Given the description of an element on the screen output the (x, y) to click on. 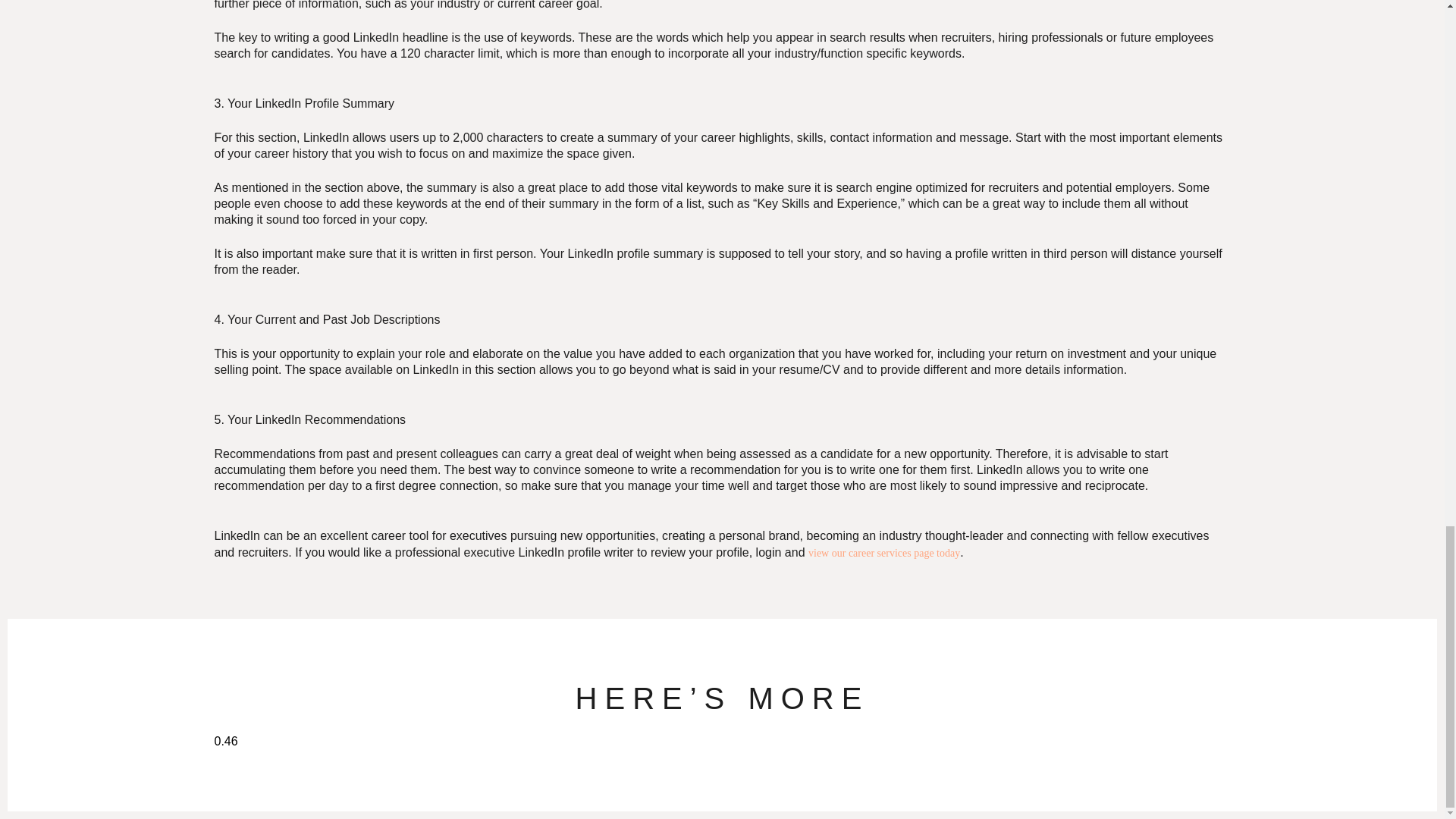
view our career services page today (883, 552)
